Given the description of an element on the screen output the (x, y) to click on. 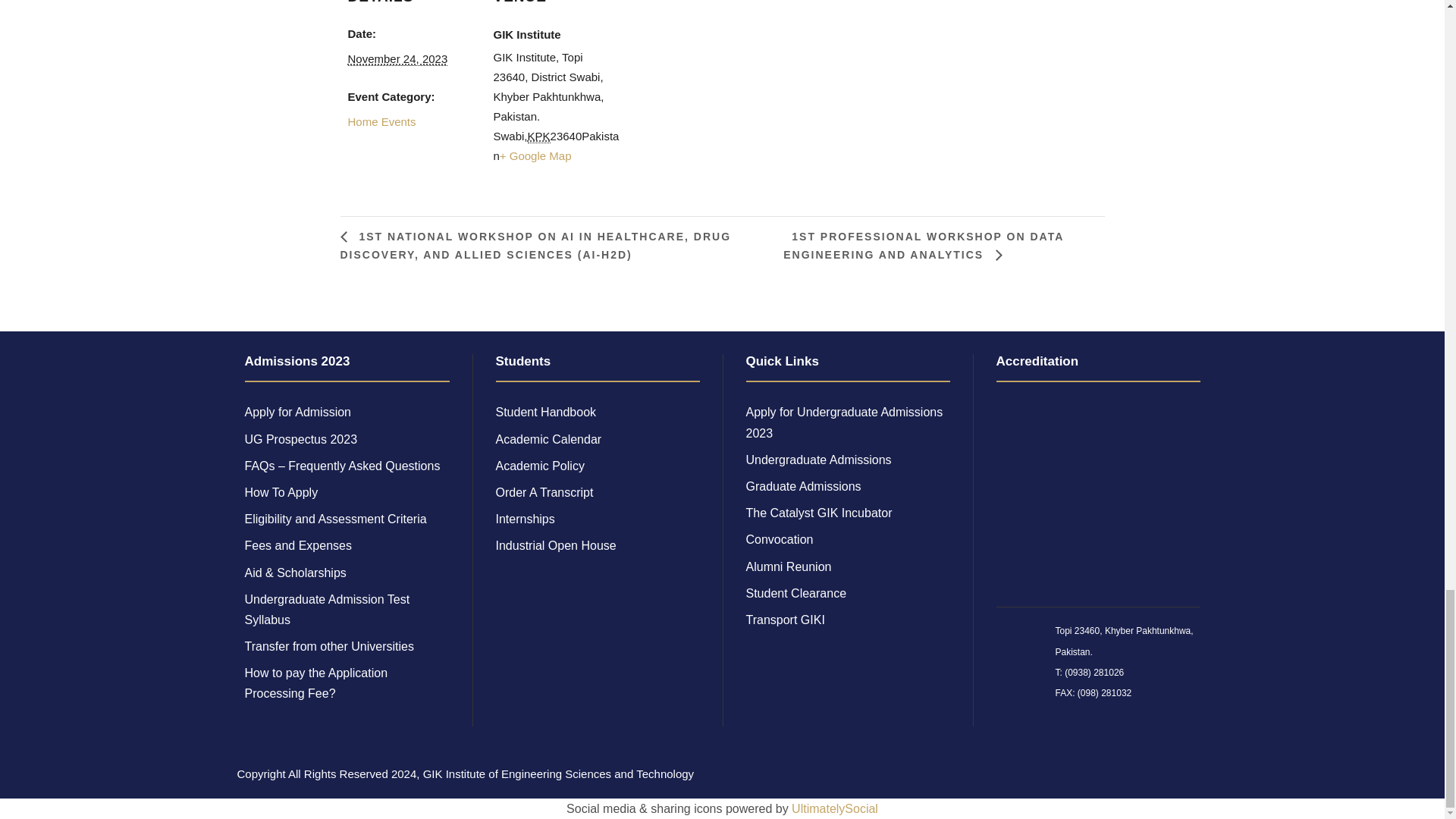
2023-11-24 (396, 59)
Click to view a Google Map (535, 155)
KPK (538, 136)
